Given the description of an element on the screen output the (x, y) to click on. 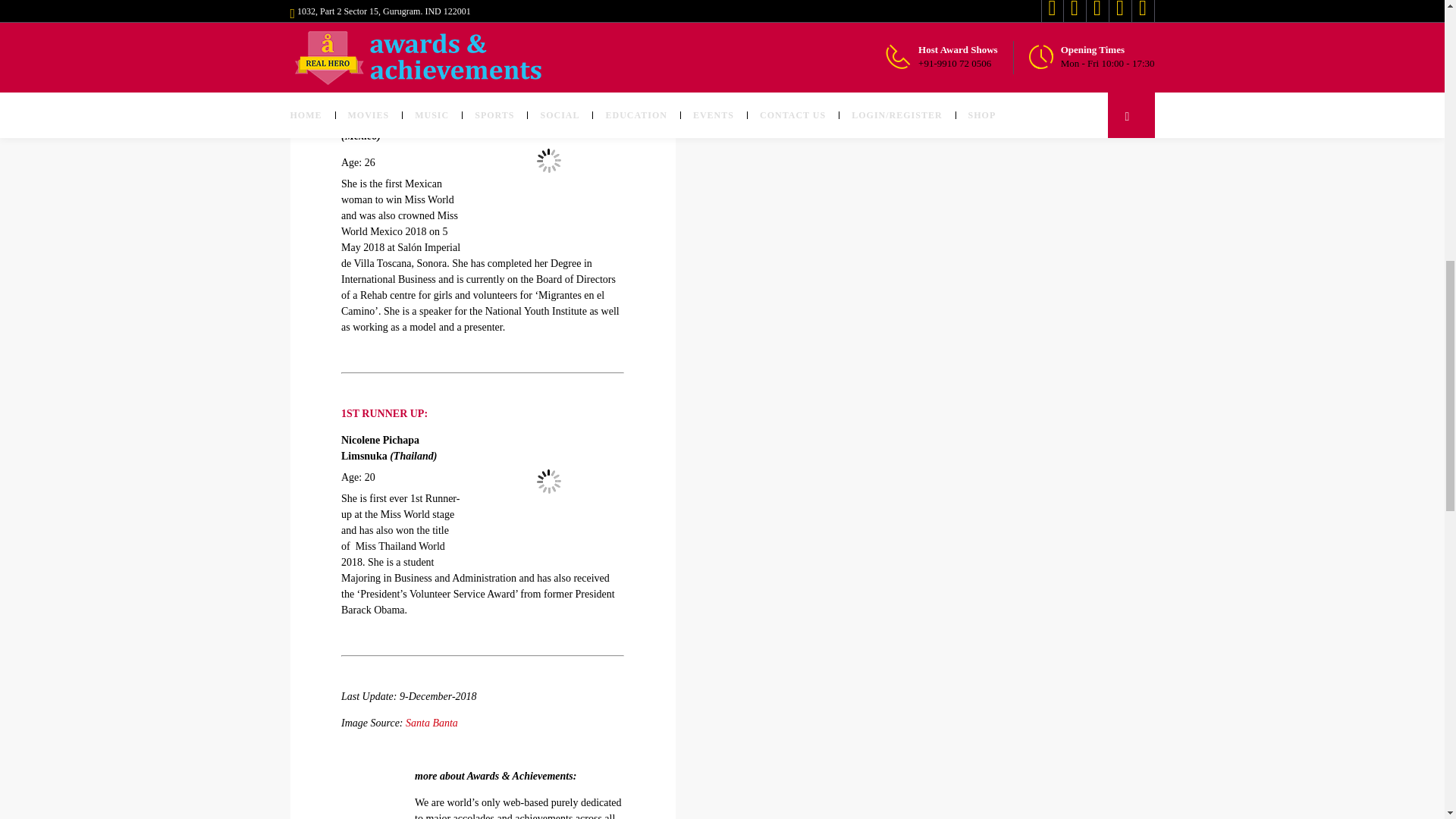
Santa Banta (432, 722)
